Given the description of an element on the screen output the (x, y) to click on. 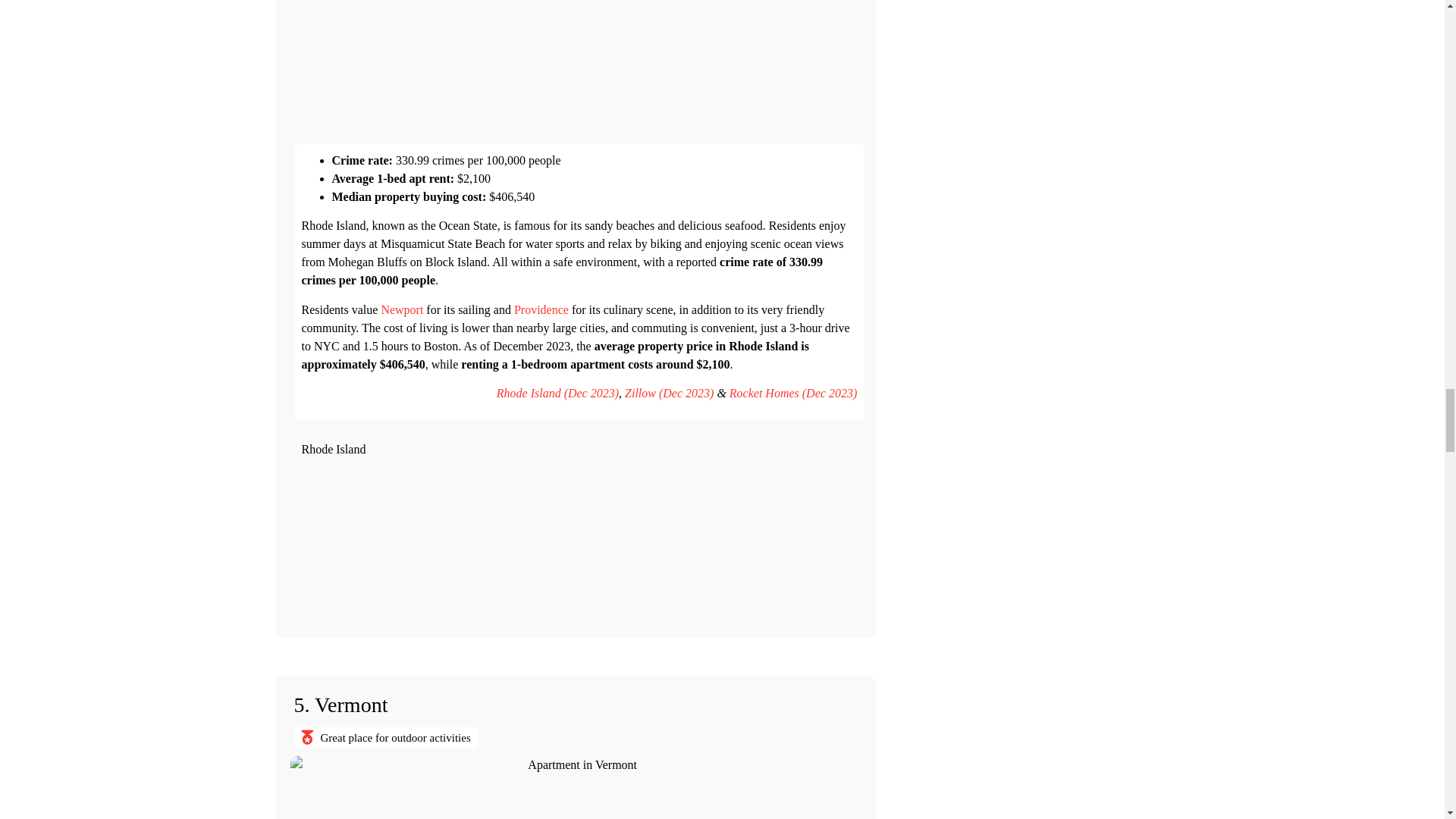
Rhode Island (579, 541)
